Given the description of an element on the screen output the (x, y) to click on. 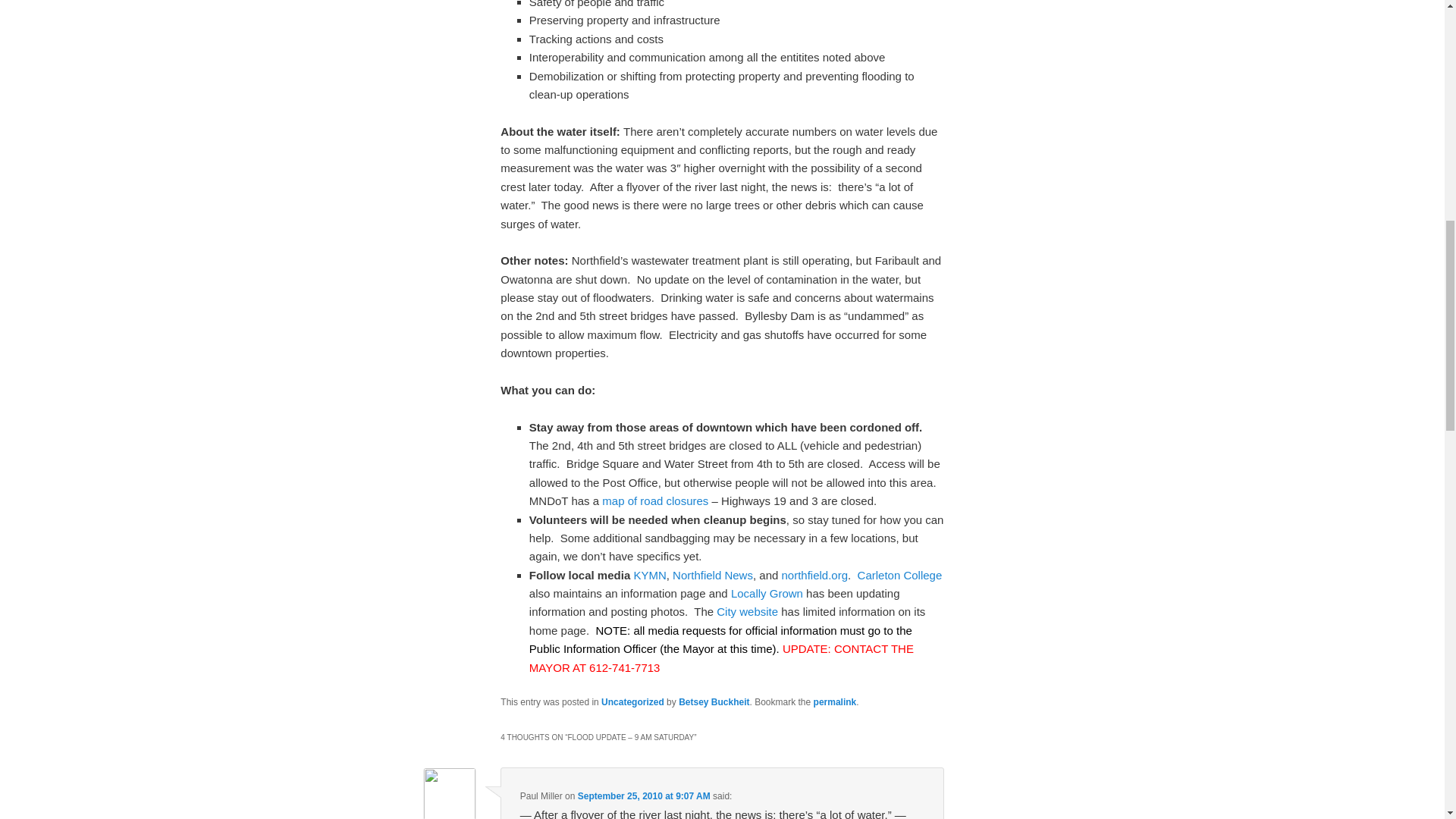
permalink (835, 701)
September 25, 2010 at 9:07 AM (644, 796)
northfield.org (813, 574)
Northfield News (712, 574)
Uncategorized (632, 701)
Carleton College (899, 574)
City website (748, 611)
Locally Grown (766, 593)
map of road closures (654, 500)
Betsey Buckheit (713, 701)
KYMN (649, 574)
